Given the description of an element on the screen output the (x, y) to click on. 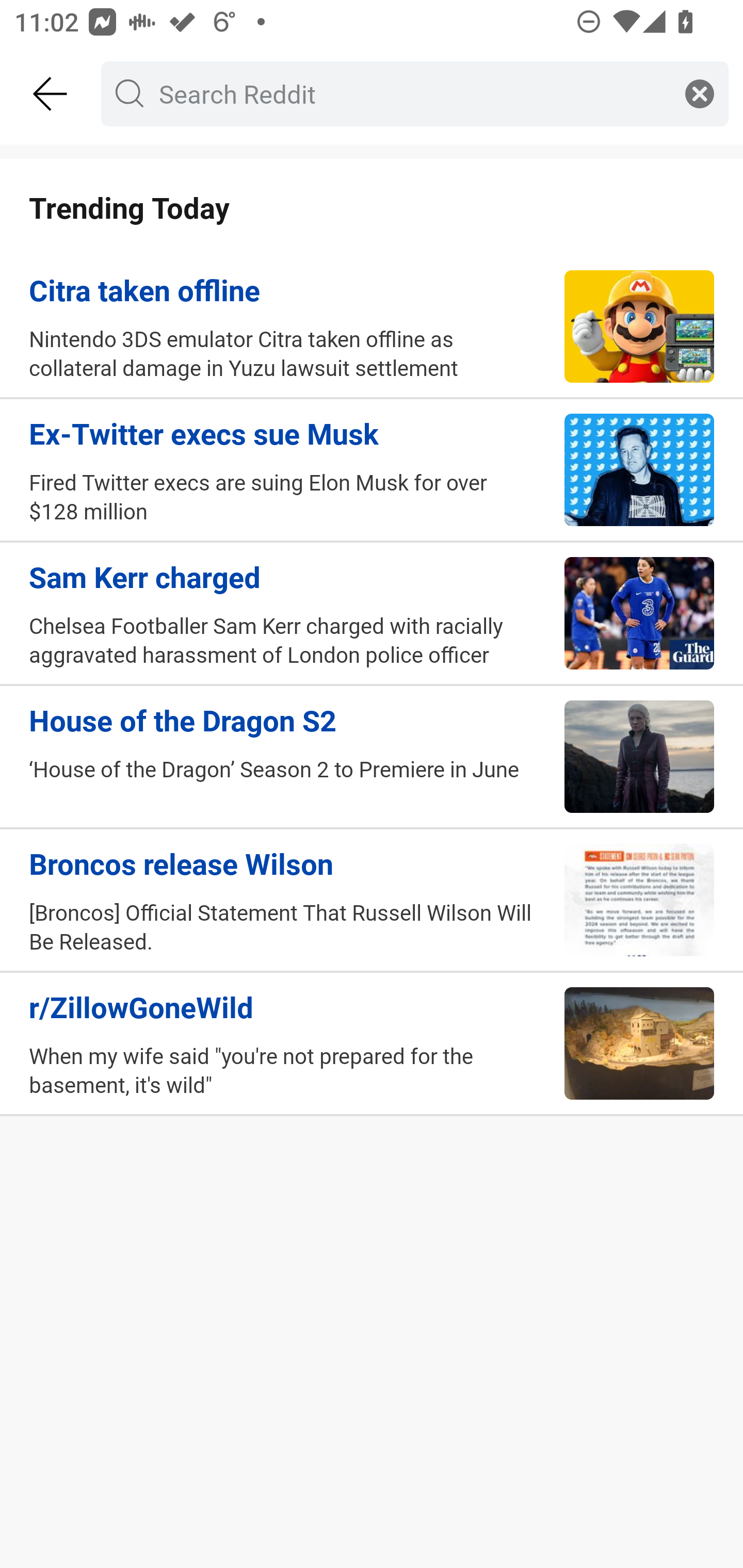
Back (50, 93)
Search Reddit (410, 93)
Clear search (699, 93)
